Given the description of an element on the screen output the (x, y) to click on. 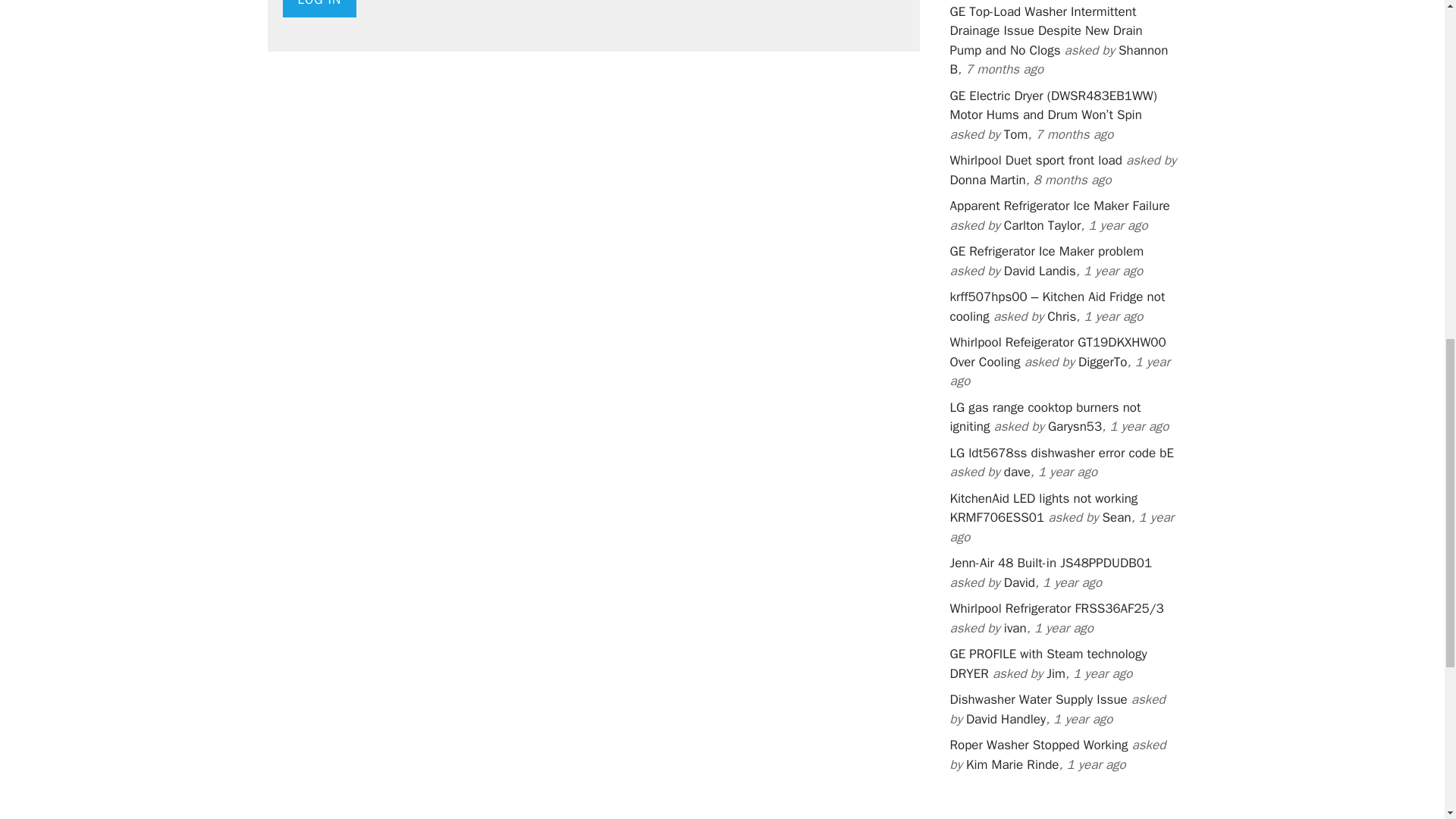
Chris (1060, 316)
Log In (319, 8)
LG gas range cooktop burners not igniting (1044, 416)
David Landis (1039, 270)
Whirlpool Refeigerator GT19DKXHW00 Over Cooling (1057, 352)
Carlton Taylor (1042, 225)
Apparent Refrigerator Ice Maker Failure (1059, 205)
Log In (319, 8)
Whirlpool Duet sport front load (1035, 160)
